Given the description of an element on the screen output the (x, y) to click on. 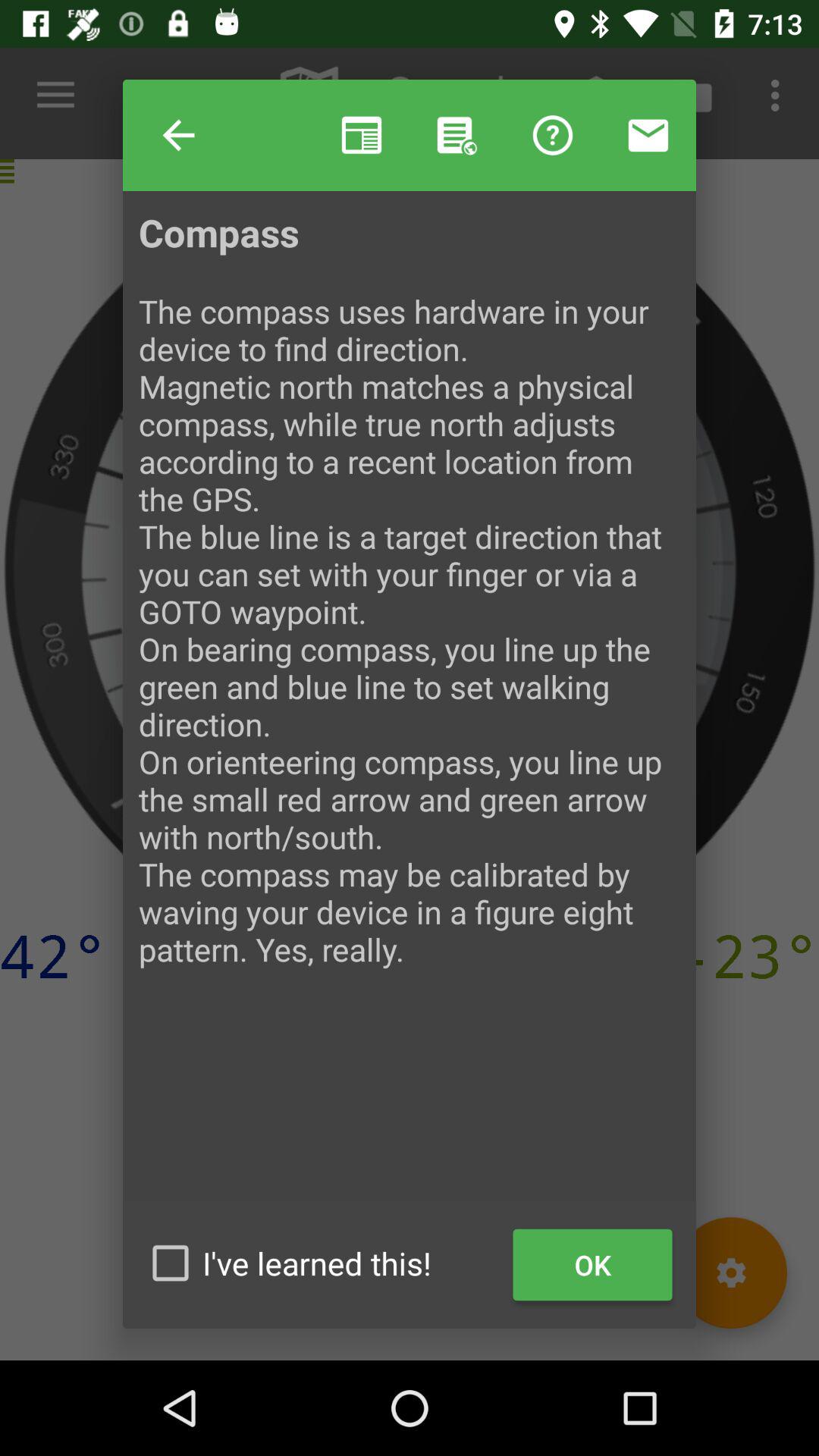
tap the icon above the ok item (409, 704)
